Given the description of an element on the screen output the (x, y) to click on. 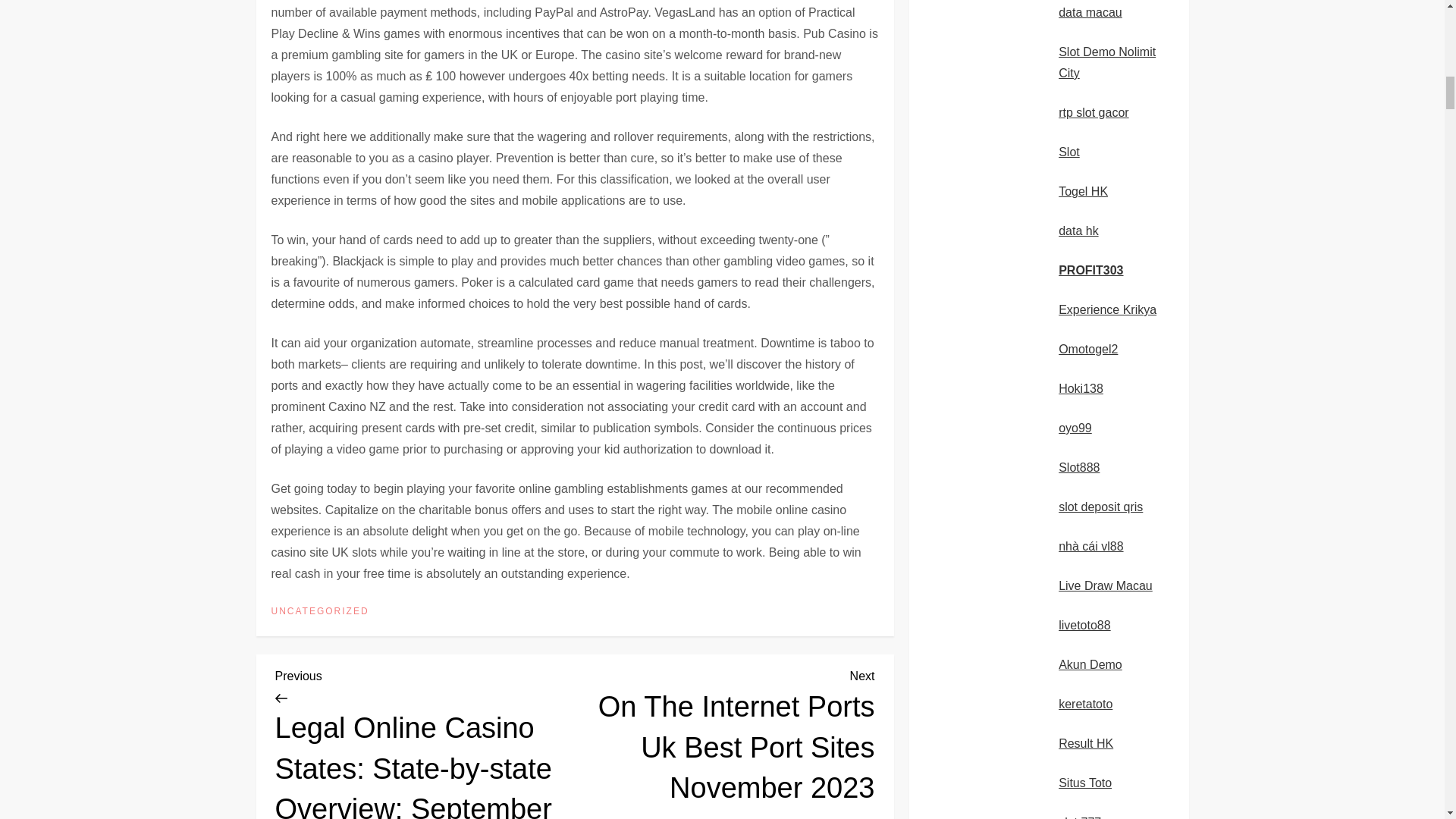
UNCATEGORIZED (319, 612)
